Given the description of an element on the screen output the (x, y) to click on. 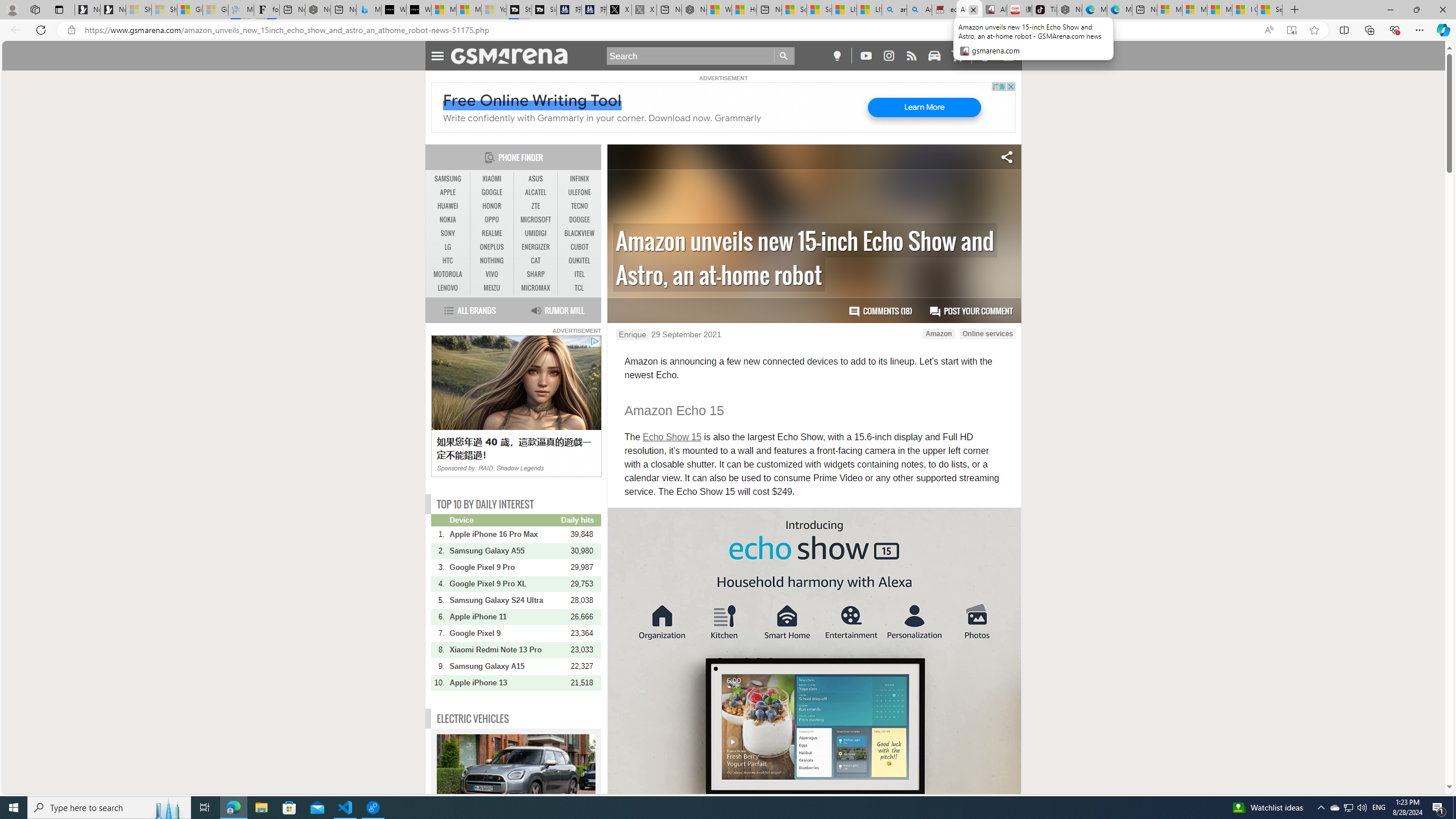
XIAOMI (491, 178)
ITEL (579, 273)
GOOGLE (491, 192)
Echo Show 15 (671, 437)
UMIDIGI (535, 233)
Nordace - My Account (694, 9)
OPPO (491, 219)
HUAWEI (448, 206)
